Given the description of an element on the screen output the (x, y) to click on. 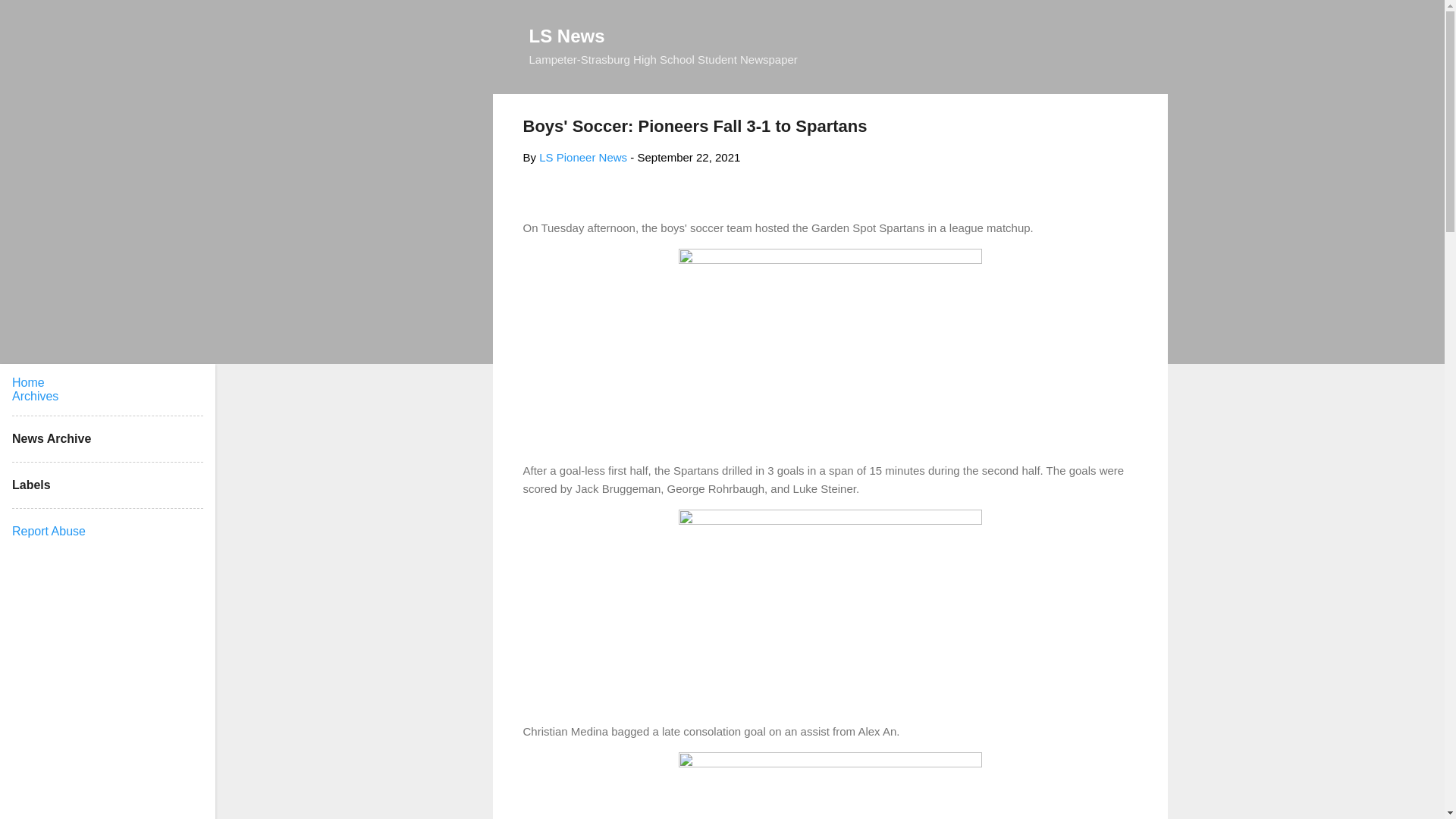
permanent link (688, 156)
LS Pioneer News (582, 156)
LS News (567, 35)
Archives (34, 395)
Search (29, 18)
September 22, 2021 (688, 156)
author profile (582, 156)
Home (28, 382)
